Given the description of an element on the screen output the (x, y) to click on. 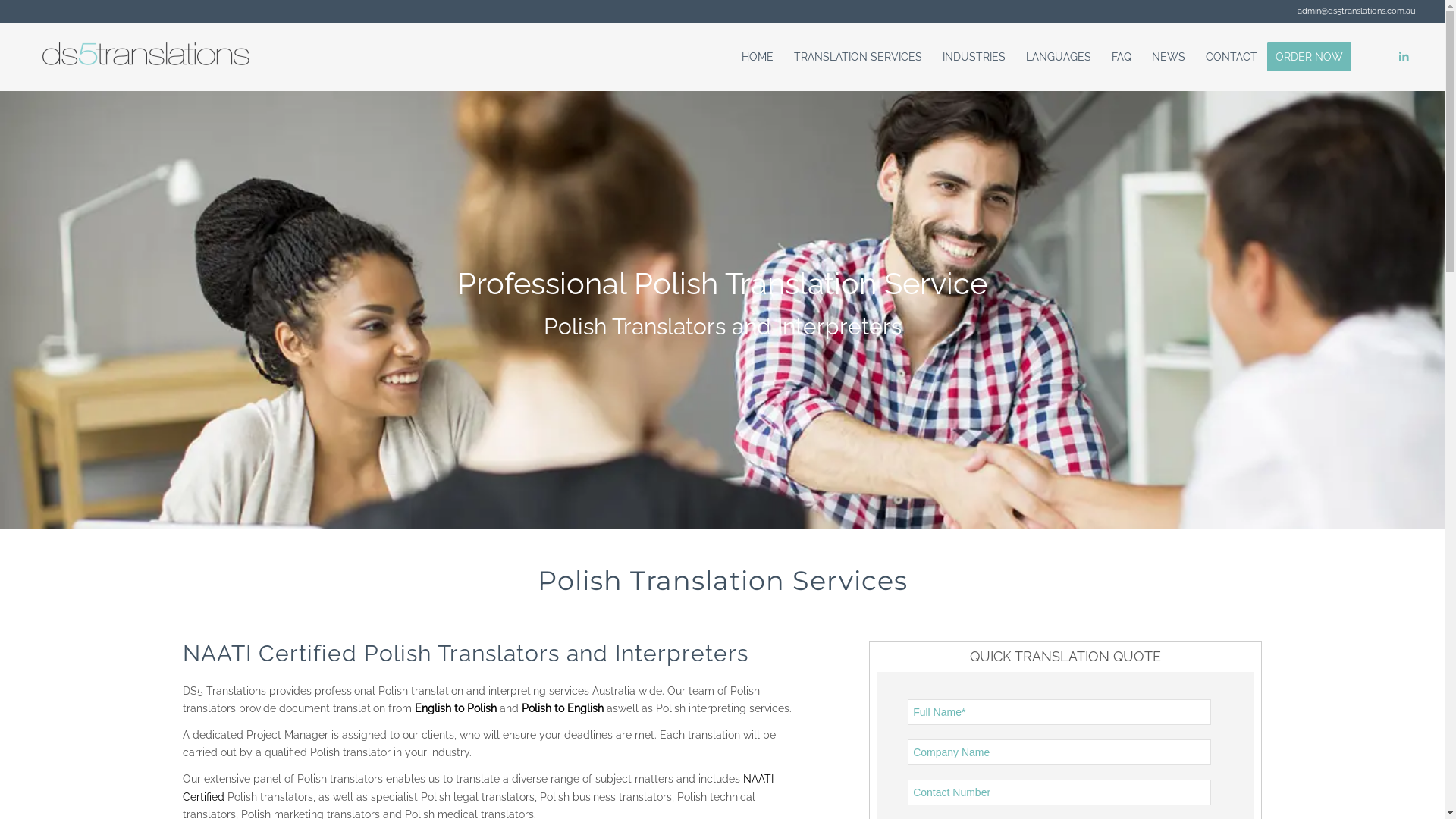
TRANSLATION SERVICES Element type: text (857, 56)
LinkedIn Element type: hover (1404, 55)
ORDER NOW Element type: text (1314, 56)
NEWS Element type: text (1168, 56)
CONTACT Element type: text (1231, 56)
professional-translation-services Element type: hover (722, 309)
INDUSTRIES Element type: text (973, 56)
LANGUAGES Element type: text (1058, 56)
FAQ Element type: text (1121, 56)
HOME Element type: text (757, 56)
NAATI Certified Element type: text (477, 787)
